Given the description of an element on the screen output the (x, y) to click on. 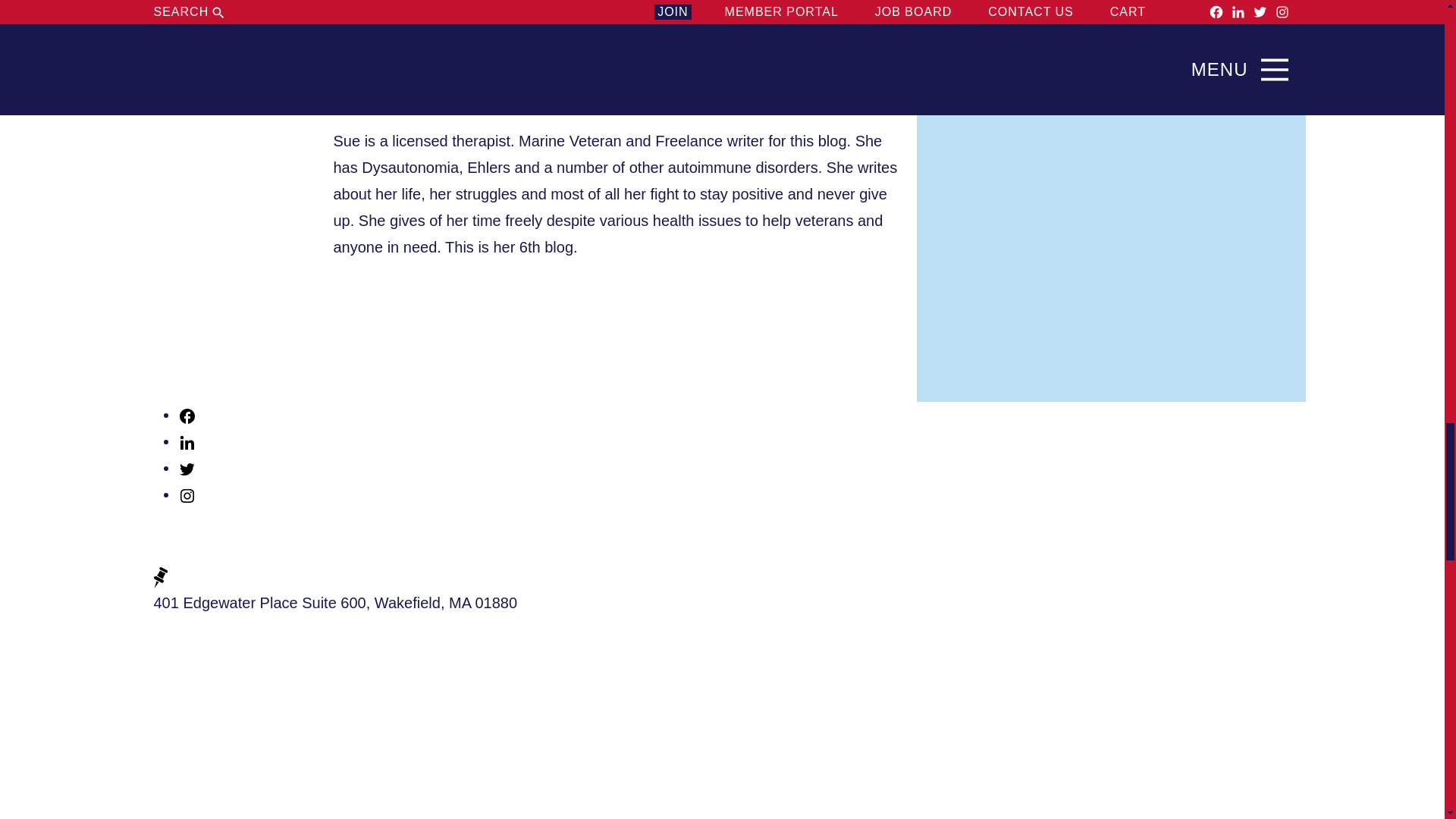
Facebook (186, 414)
Linkedin (186, 441)
Instagram (186, 494)
Twitter (186, 469)
Twitter (186, 467)
Linkedin (186, 443)
Women Marines Association (227, 541)
